Given the description of an element on the screen output the (x, y) to click on. 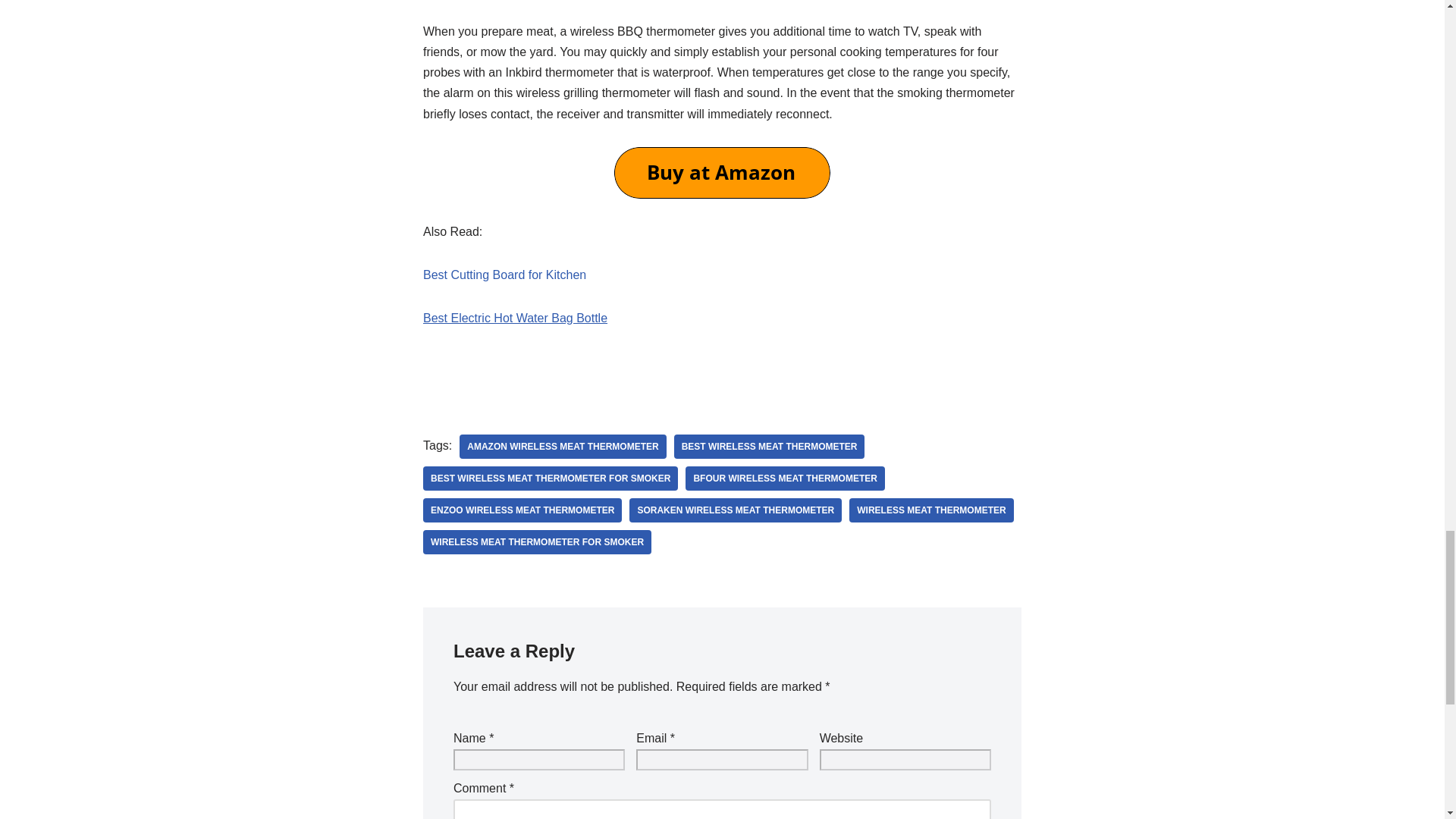
Wireless Meat Thermometer (930, 509)
Best Cutting Board for Kitchen (504, 274)
BEST WIRELESS MEAT THERMOMETER FOR SMOKER (550, 478)
BEST WIRELESS MEAT THERMOMETER (769, 446)
Best Electric Hot Water Bag Bottle (515, 318)
best wireless meat thermometer for smoker (550, 478)
WIRELESS MEAT THERMOMETER (930, 509)
SORAKEN WIRELESS MEAT THERMOMETER (734, 509)
enzoo wireless meat thermometer (522, 509)
amazon wireless meat thermometer (562, 446)
ENZOO WIRELESS MEAT THERMOMETER (522, 509)
wireless meat thermometer for smoker (536, 541)
soraken wireless meat thermometer (734, 509)
Best Wireless Meat Thermometer (769, 446)
WIRELESS MEAT THERMOMETER FOR SMOKER (536, 541)
